Given the description of an element on the screen output the (x, y) to click on. 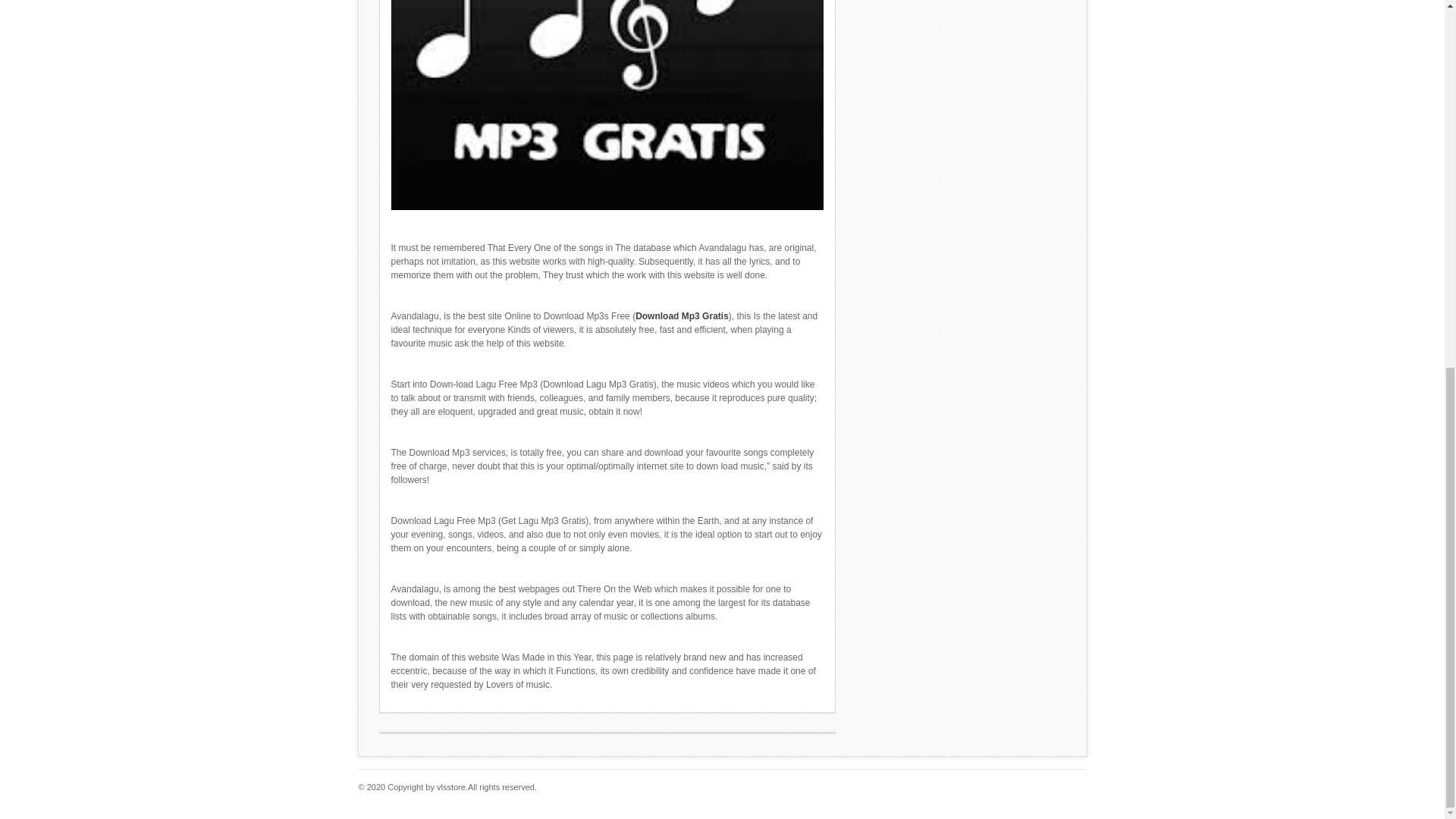
Download Mp3 Gratis (681, 316)
